Given the description of an element on the screen output the (x, y) to click on. 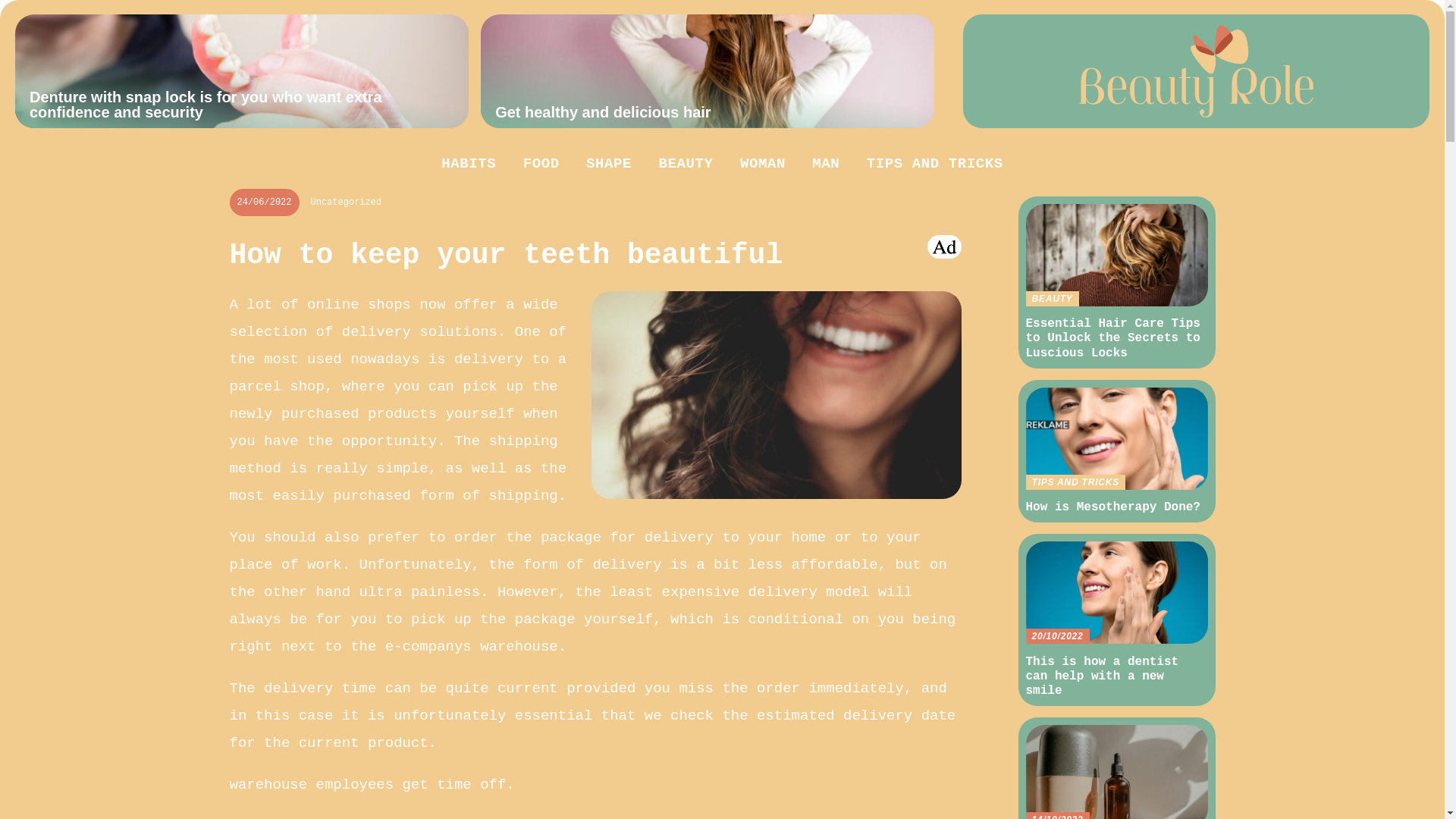
MAN (826, 163)
WOMAN (762, 163)
FOOD (540, 163)
TIPS AND TRICKS (934, 163)
Get healthy and delicious hair (707, 70)
HABITS (1116, 451)
SHAPE (468, 163)
BEAUTY (608, 163)
